Given the description of an element on the screen output the (x, y) to click on. 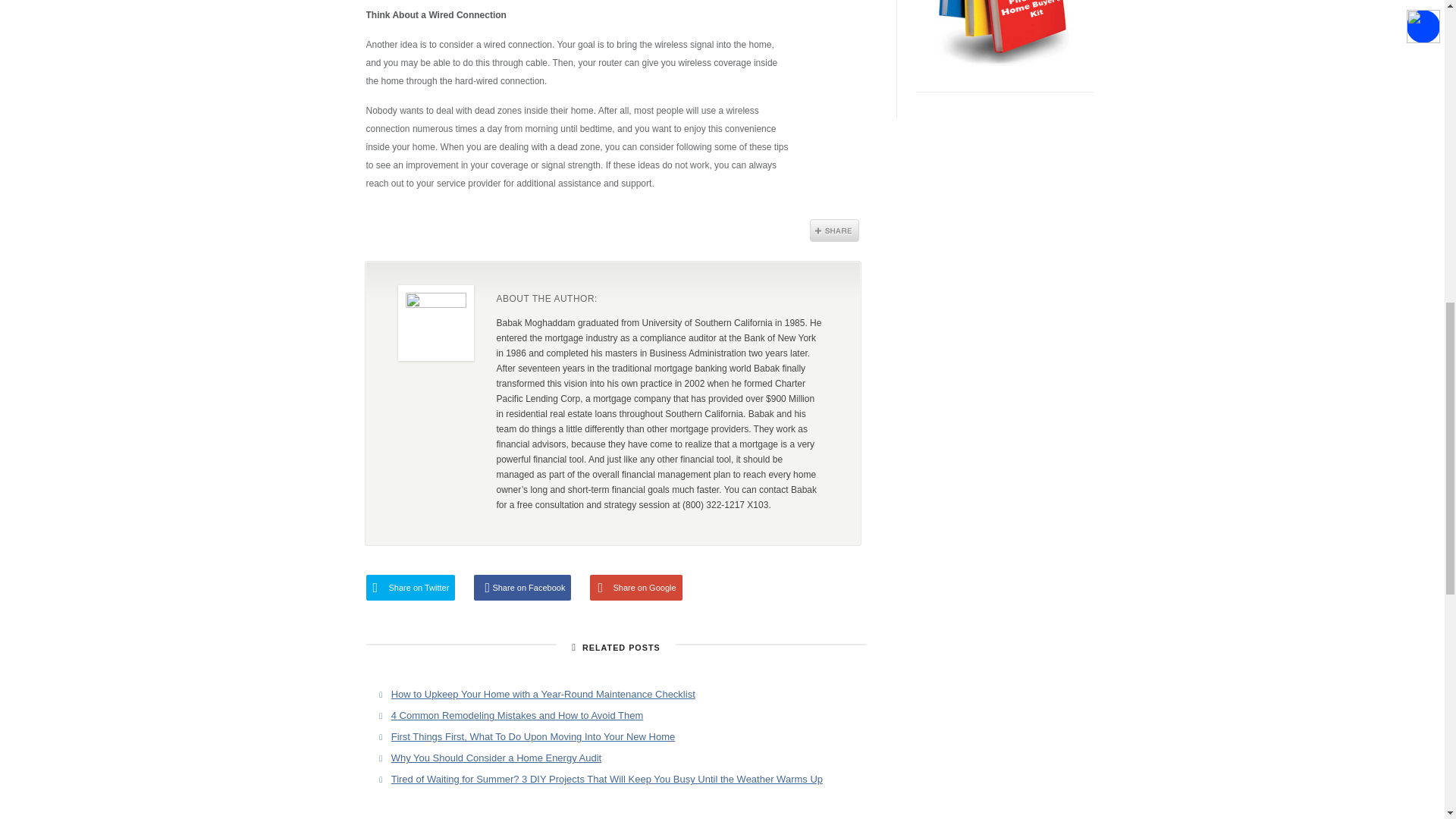
4 Common Remodeling Mistakes and How to Avoid Them (517, 715)
Share (834, 230)
